Given the description of an element on the screen output the (x, y) to click on. 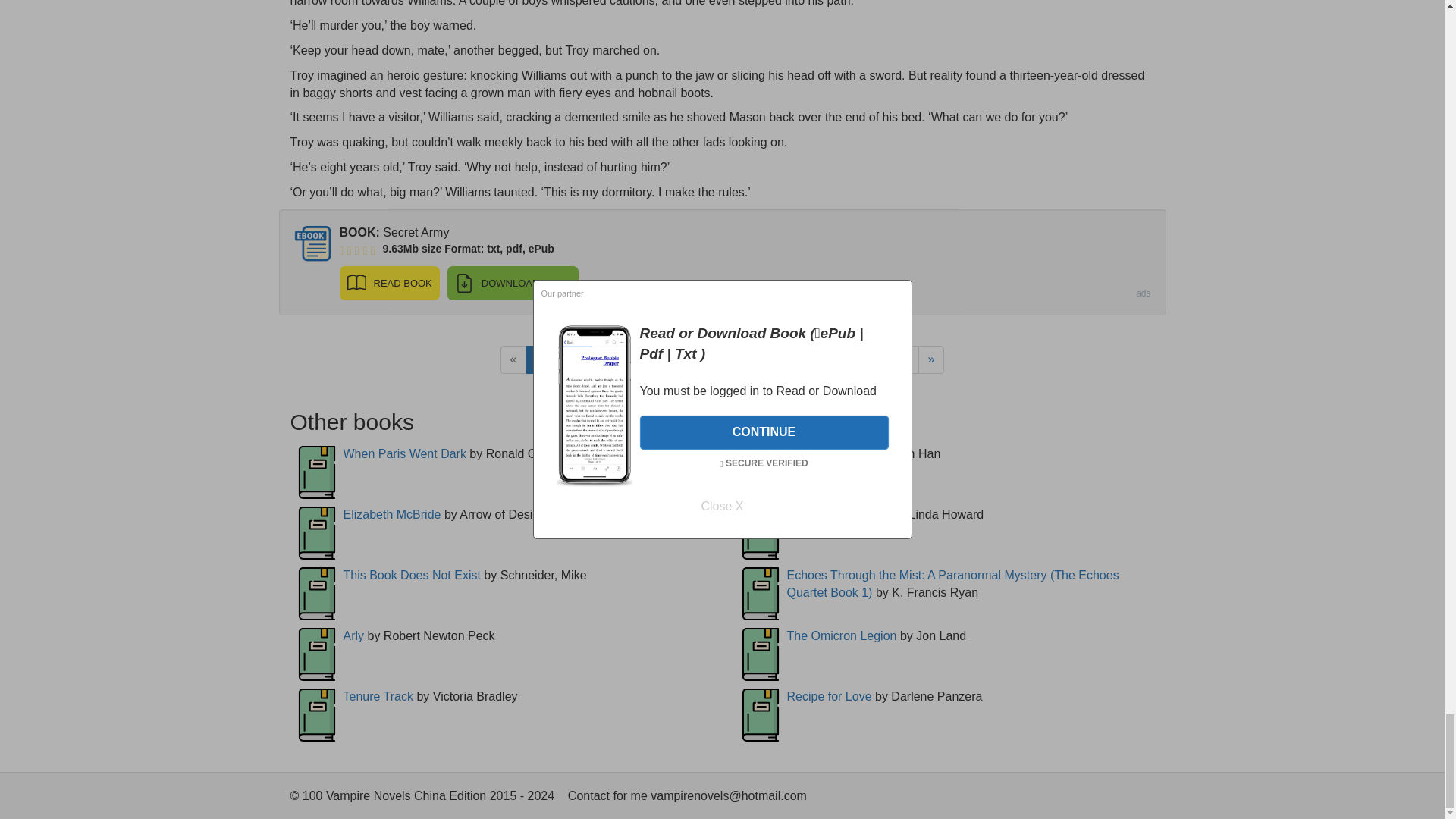
10 (776, 359)
31 (901, 359)
4 (617, 359)
1 (539, 359)
6 (669, 359)
3 (591, 359)
21 (839, 359)
2 (564, 359)
8 (721, 359)
LiveInternet (1142, 799)
READ BOOK (389, 283)
DOWNLOAD BOOK (512, 283)
When Paris Went Dark (403, 453)
7 (695, 359)
9 (748, 359)
